Given the description of an element on the screen output the (x, y) to click on. 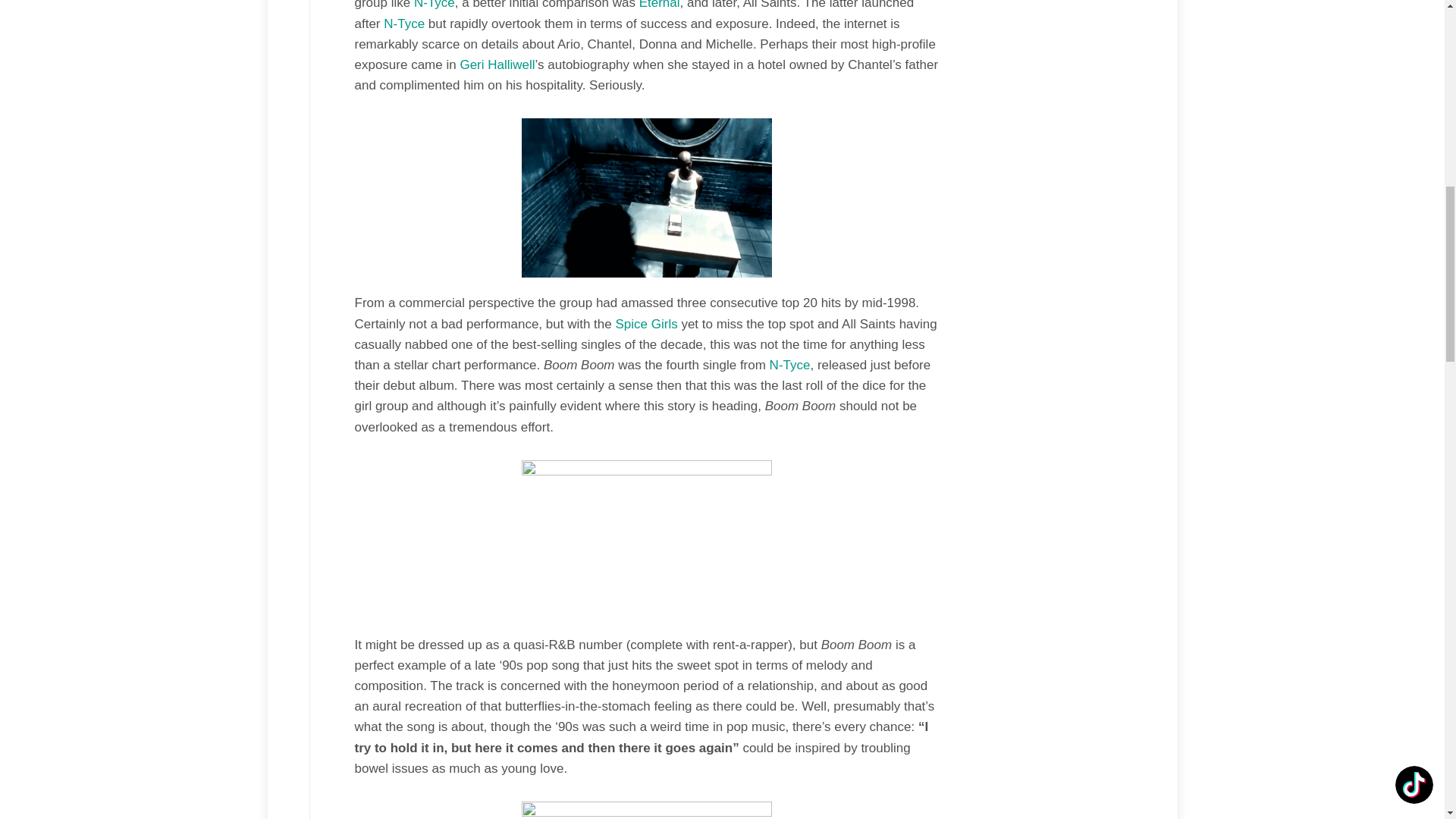
Geri Halliwell (497, 64)
N-Tyce (433, 4)
Eternal (659, 4)
N-Tyce (404, 23)
Spice Girls (645, 323)
N-Tyce (790, 364)
